Given the description of an element on the screen output the (x, y) to click on. 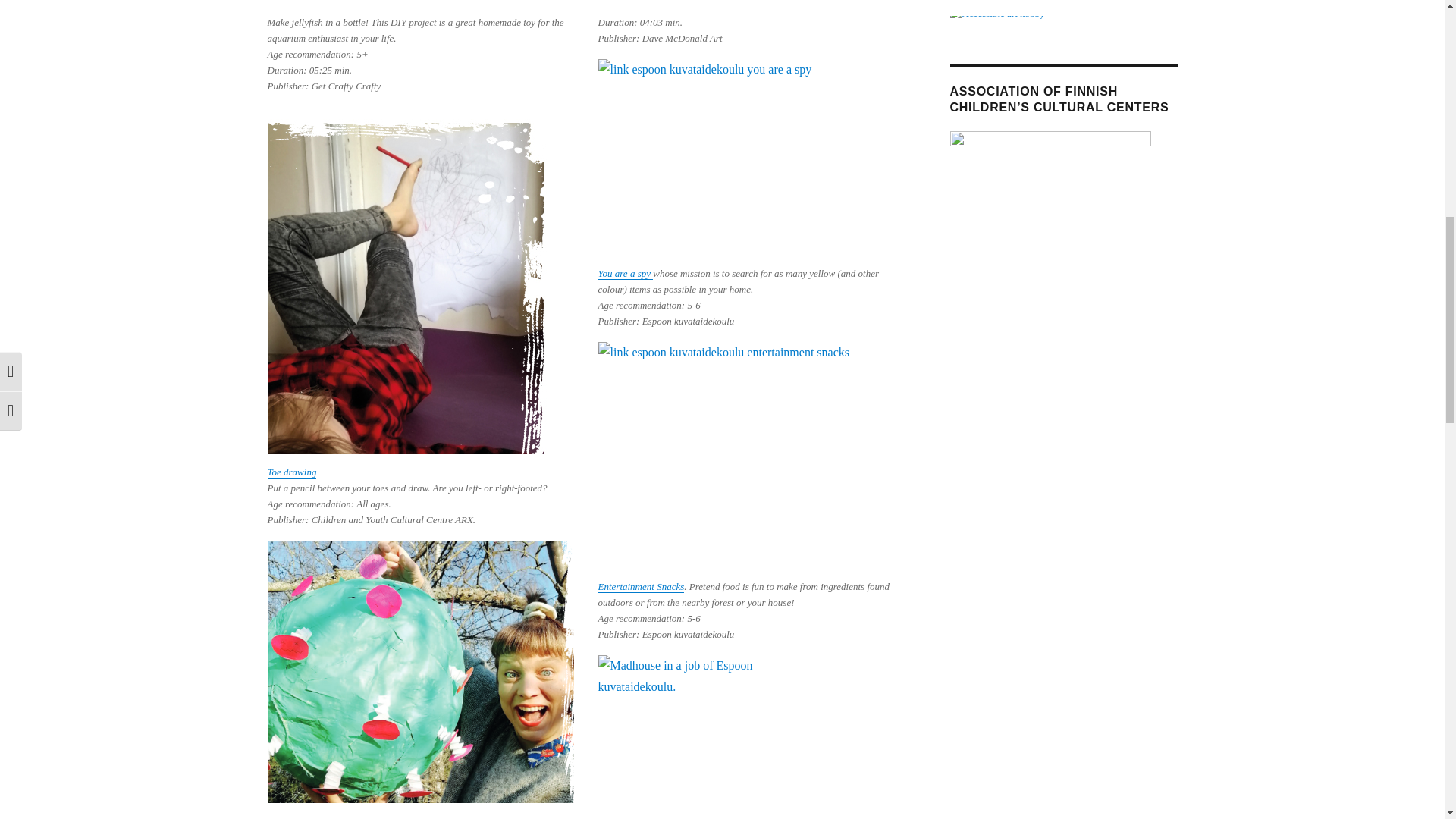
Toe drawing (290, 471)
YouTube player (419, 2)
You are a spy (624, 273)
Entertainment Snacks (640, 586)
